Given the description of an element on the screen output the (x, y) to click on. 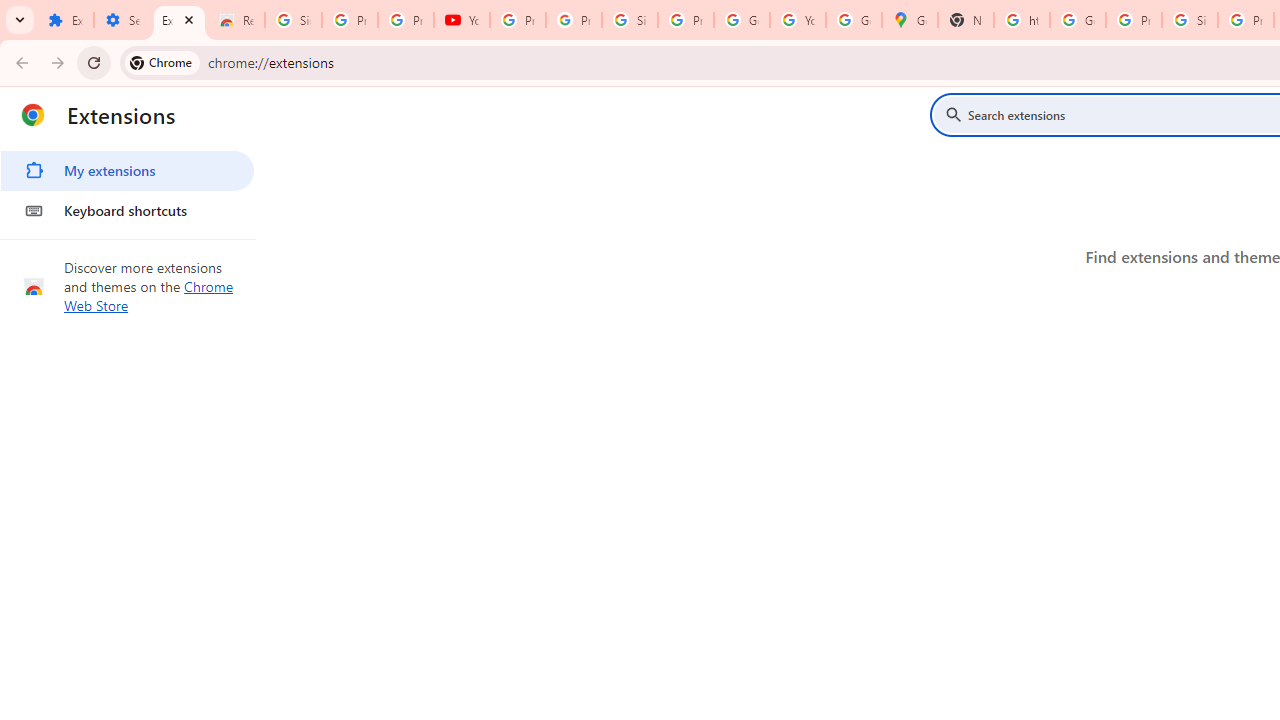
Google Account (742, 20)
Sign in - Google Accounts (629, 20)
Extensions (65, 20)
AutomationID: sectionMenu (128, 187)
Settings (122, 20)
Sign in - Google Accounts (293, 20)
Reviews: Helix Fruit Jump Arcade Game (235, 20)
